Given the description of an element on the screen output the (x, y) to click on. 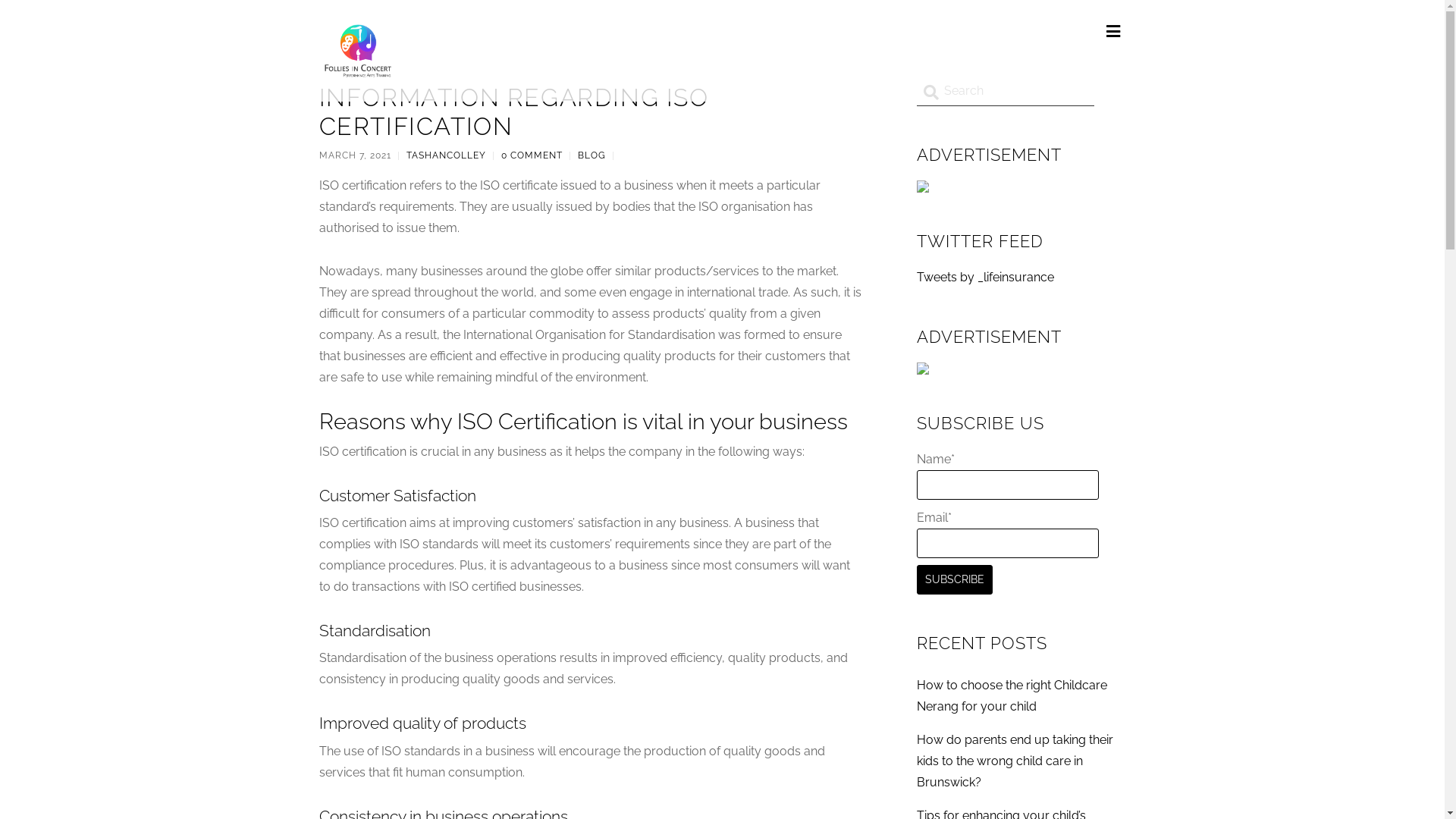
BLOG Element type: text (591, 155)
Tweets by _lifeinsurance Element type: text (984, 276)
TASHANCOLLEY Element type: text (446, 155)
How to choose the right Childcare Nerang for your child Element type: text (1011, 695)
Subscribe Element type: text (953, 579)
Follies in Concert Element type: hover (356, 71)
INFORMATION REGARDING ISO CERTIFICATION Element type: text (513, 111)
Follies in Concert Element type: hover (356, 49)
0 COMMENT Element type: text (530, 155)
